Given the description of an element on the screen output the (x, y) to click on. 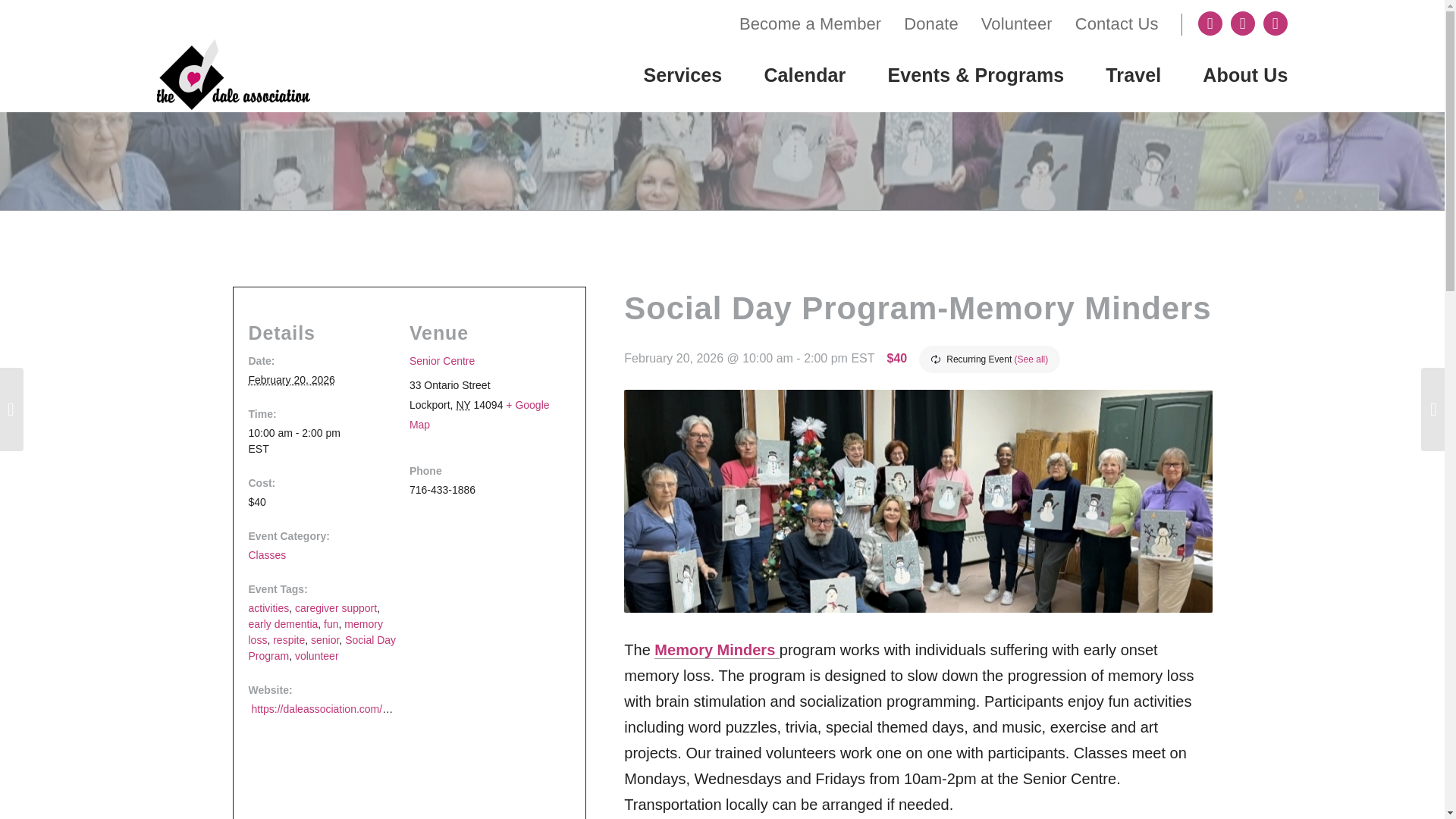
Donate (931, 23)
Calendar (783, 74)
Contact Us (1116, 23)
Google maps iframe displaying the address to Senior Centre (402, 777)
Services (682, 74)
Facebook (1210, 23)
Volunteer (1016, 23)
2026-02-20 (291, 378)
Youtube (1275, 23)
New York (462, 404)
Become a Member (809, 23)
Instagram (1241, 23)
Click to view a Google Map (479, 414)
2026-02-20 (322, 440)
